Given the description of an element on the screen output the (x, y) to click on. 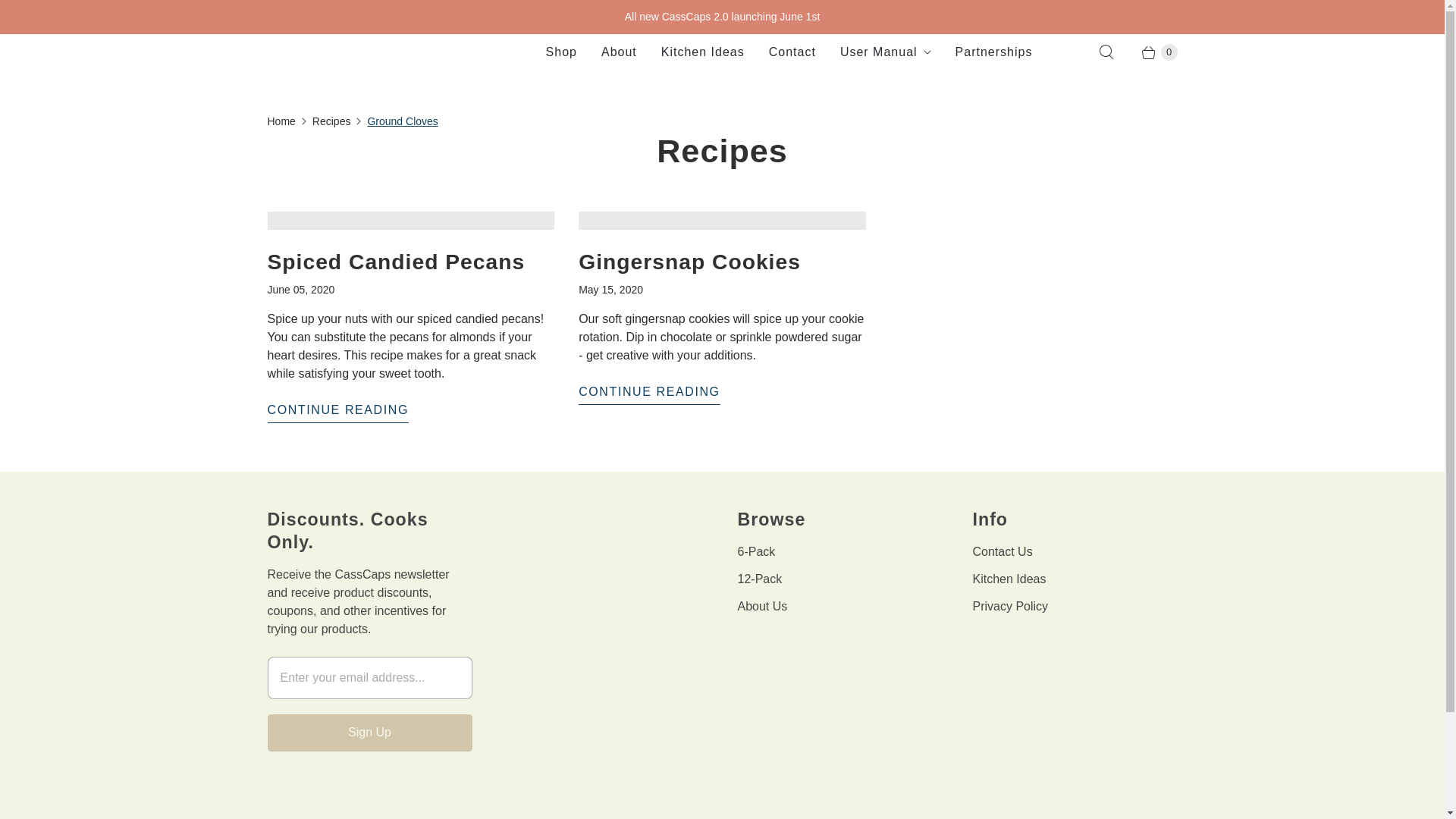
Gingersnap Cookies (649, 393)
Gingersnap Cookies (689, 261)
CONTINUE READING (337, 412)
Kitchen Ideas (703, 52)
6-Pack (755, 551)
CONTINUE READING (649, 393)
Sign Up (368, 732)
Recipes (331, 121)
Shop (561, 52)
Ground Cloves (402, 121)
